Given the description of an element on the screen output the (x, y) to click on. 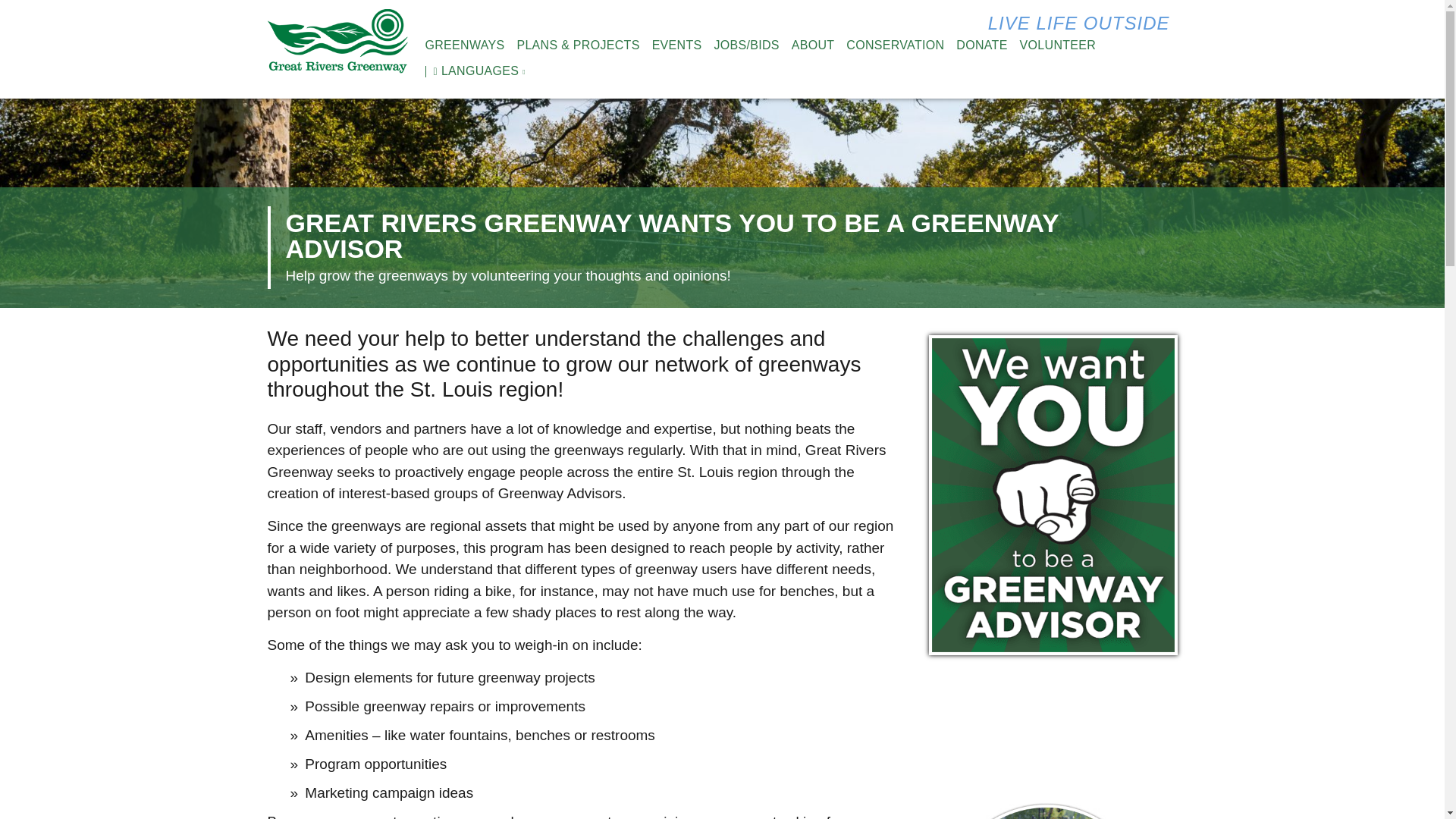
GREENWAYS (464, 45)
EVENTS (676, 45)
LANGUAGES (471, 71)
DONATE (981, 45)
CONSERVATION (894, 45)
VOLUNTEER (1058, 45)
ABOUT (813, 45)
